Given the description of an element on the screen output the (x, y) to click on. 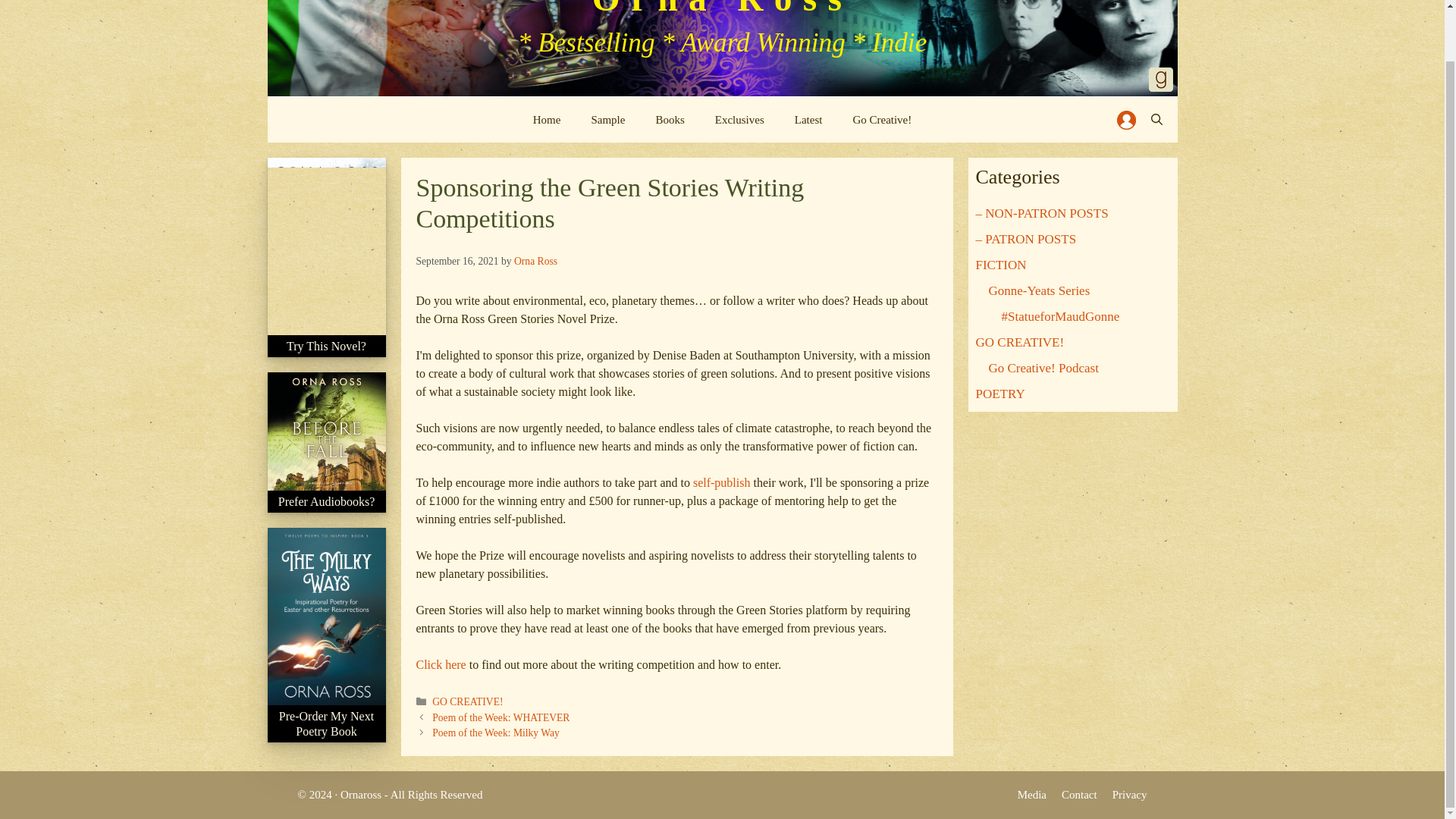
My Account (1125, 120)
Poem of the Week: Milky Way (495, 732)
FICTION (1000, 264)
Click here (439, 664)
Orna Ross (535, 260)
Gonne-Yeats Series (1039, 290)
Go Creative! Podcast (1043, 368)
Prefer Audiobooks? (325, 509)
Exclusives (739, 119)
Ornaross (360, 794)
Contact (1079, 794)
Media (1031, 794)
Books (669, 119)
View all posts by Orna Ross (535, 260)
self-publish (722, 481)
